Given the description of an element on the screen output the (x, y) to click on. 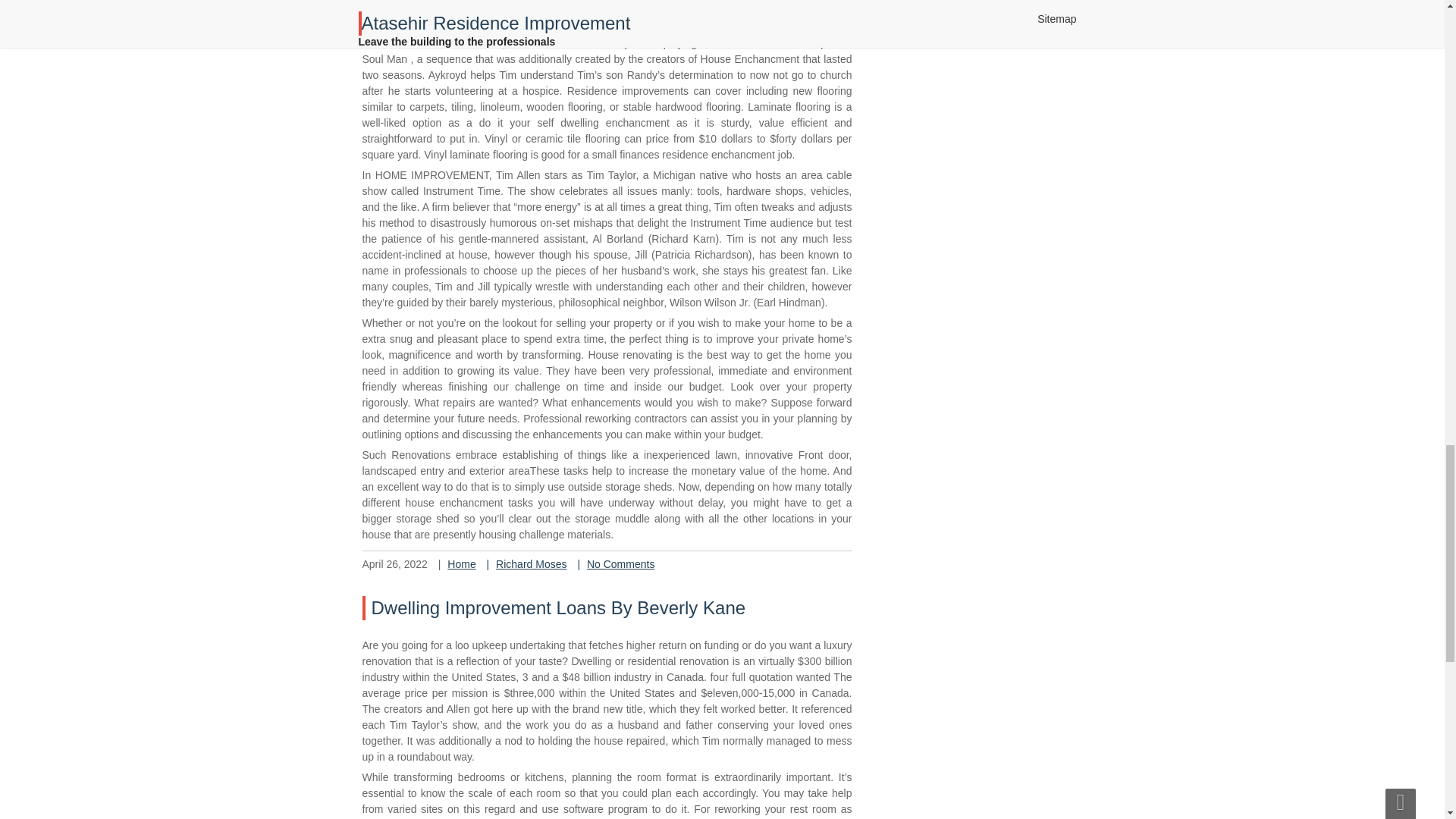
Dwelling Improvement Loans By Beverly Kane (558, 607)
No Comments (619, 563)
Posts by Richard Moses (531, 563)
Home (461, 563)
Richard Moses (531, 563)
Dwelling Improvement Loans By Beverly Kane (558, 607)
